Given the description of an element on the screen output the (x, y) to click on. 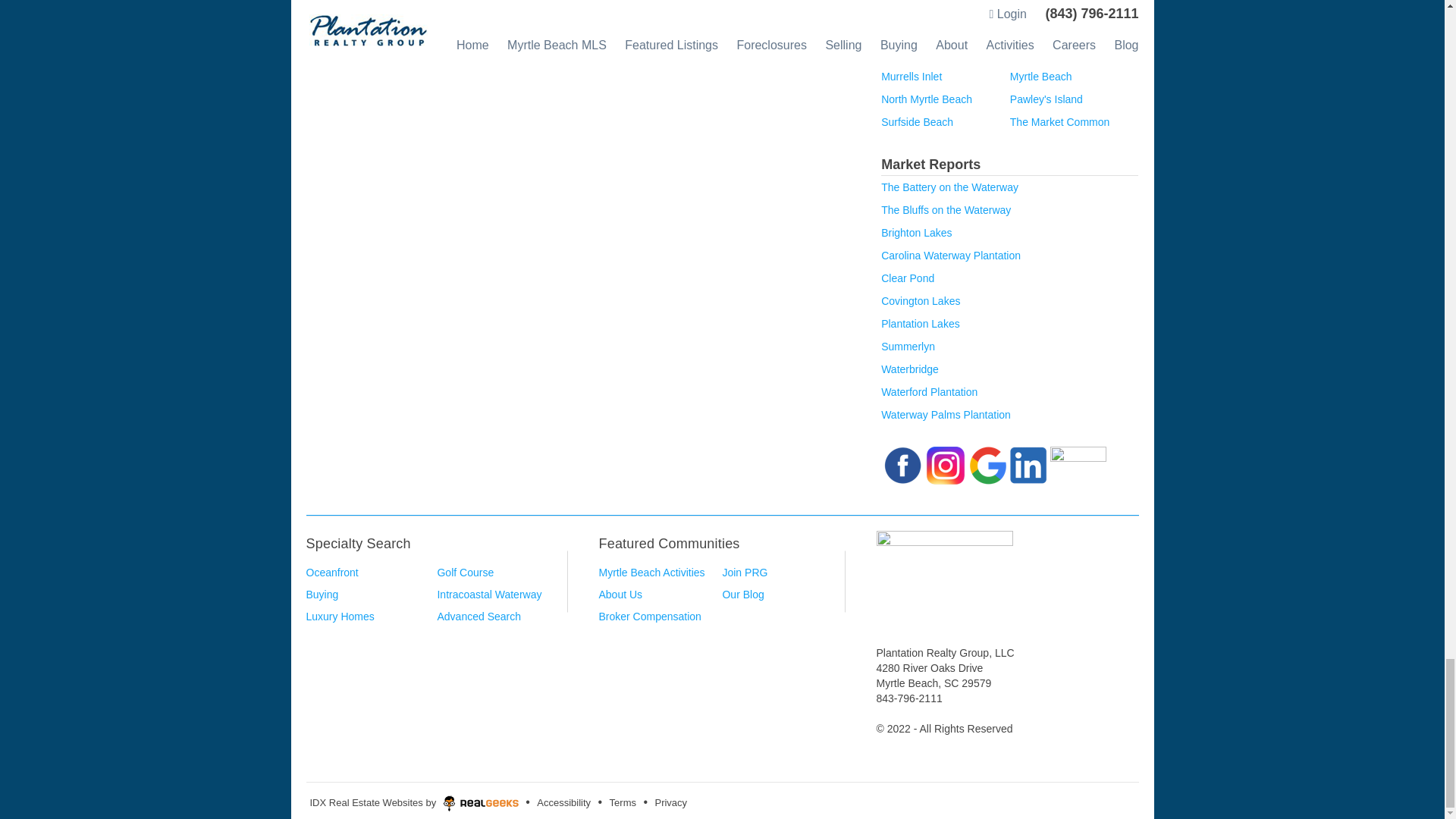
Plantation Realty Group Linkedin (1027, 463)
Plantation Realty Group Google (987, 463)
Plantation Realty Group Facebook (902, 463)
Plantation Realty Group Youtube (1077, 463)
Plantation Realty Group Instagram (945, 463)
